Given the description of an element on the screen output the (x, y) to click on. 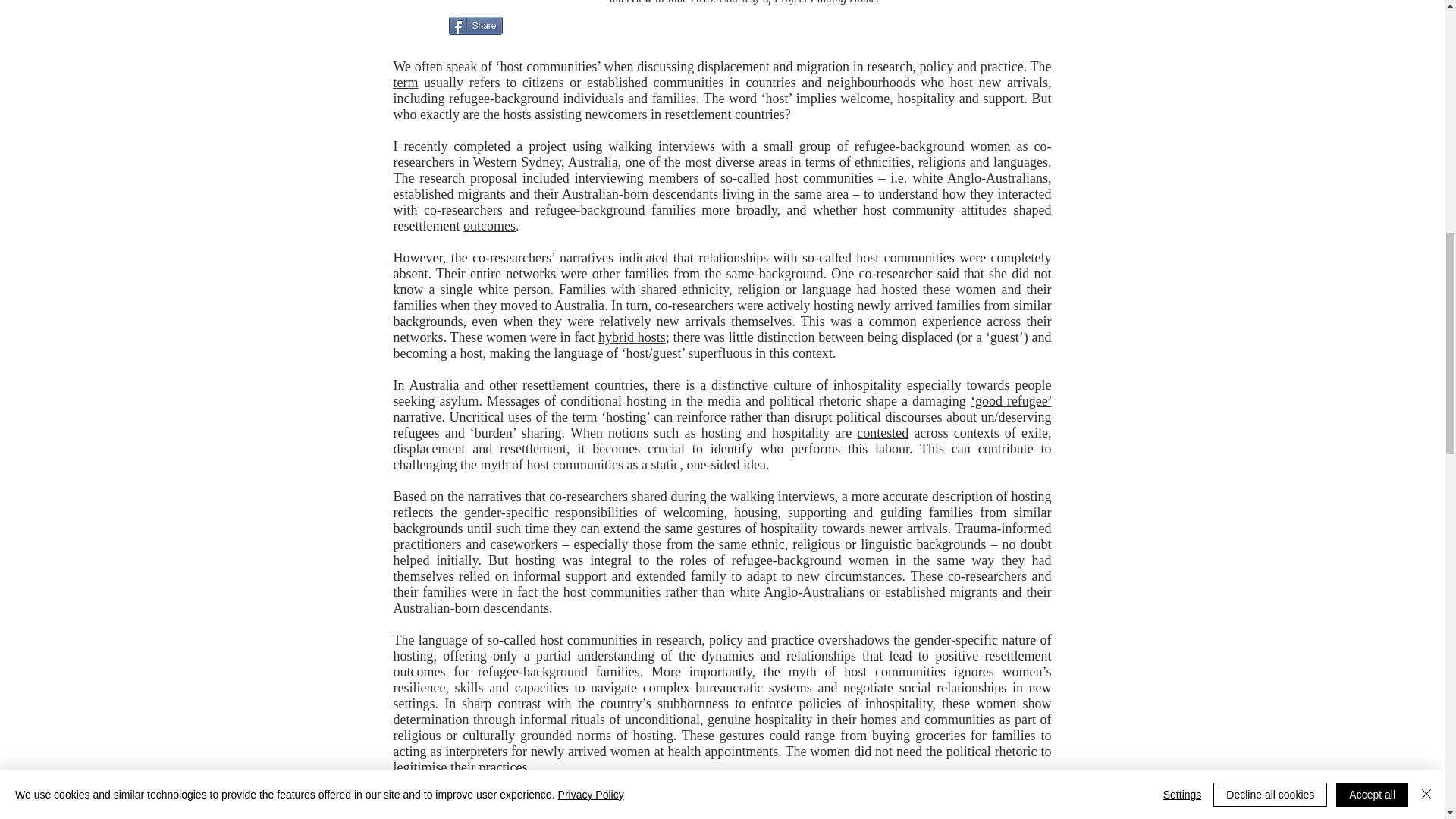
outcomes (489, 225)
Facebook Like (541, 25)
project (547, 145)
Twitter Tweet (420, 25)
walking interviews (661, 145)
hybrid hosts (631, 337)
term (405, 82)
inhospitality (866, 385)
diverse (734, 161)
Share (475, 25)
Share (475, 25)
